Given the description of an element on the screen output the (x, y) to click on. 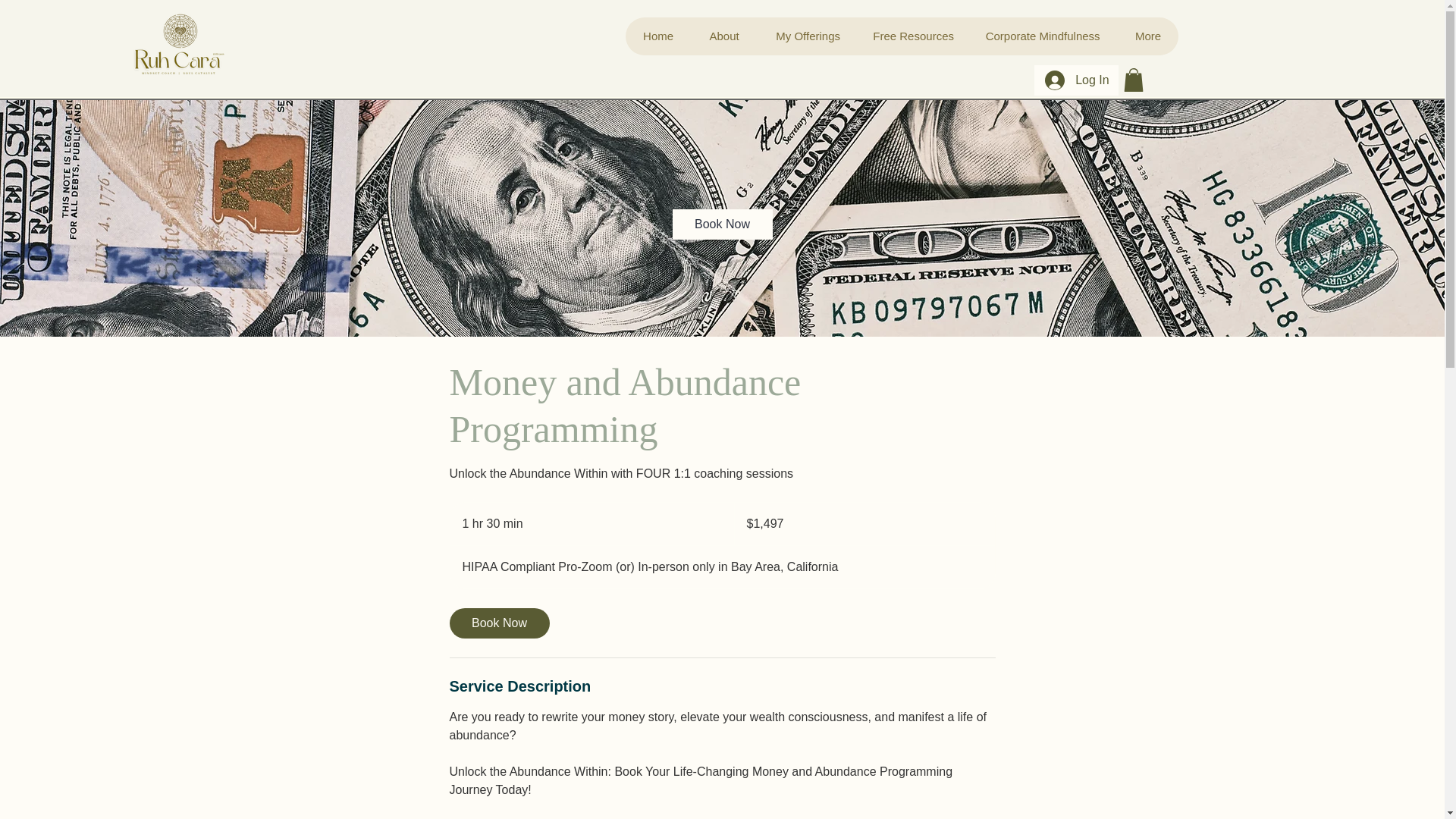
Home (658, 36)
Free Resources (913, 36)
Book Now (498, 623)
About (723, 36)
Corporate Mindfulness (1042, 36)
Log In (1075, 80)
Book Now (721, 224)
